Given the description of an element on the screen output the (x, y) to click on. 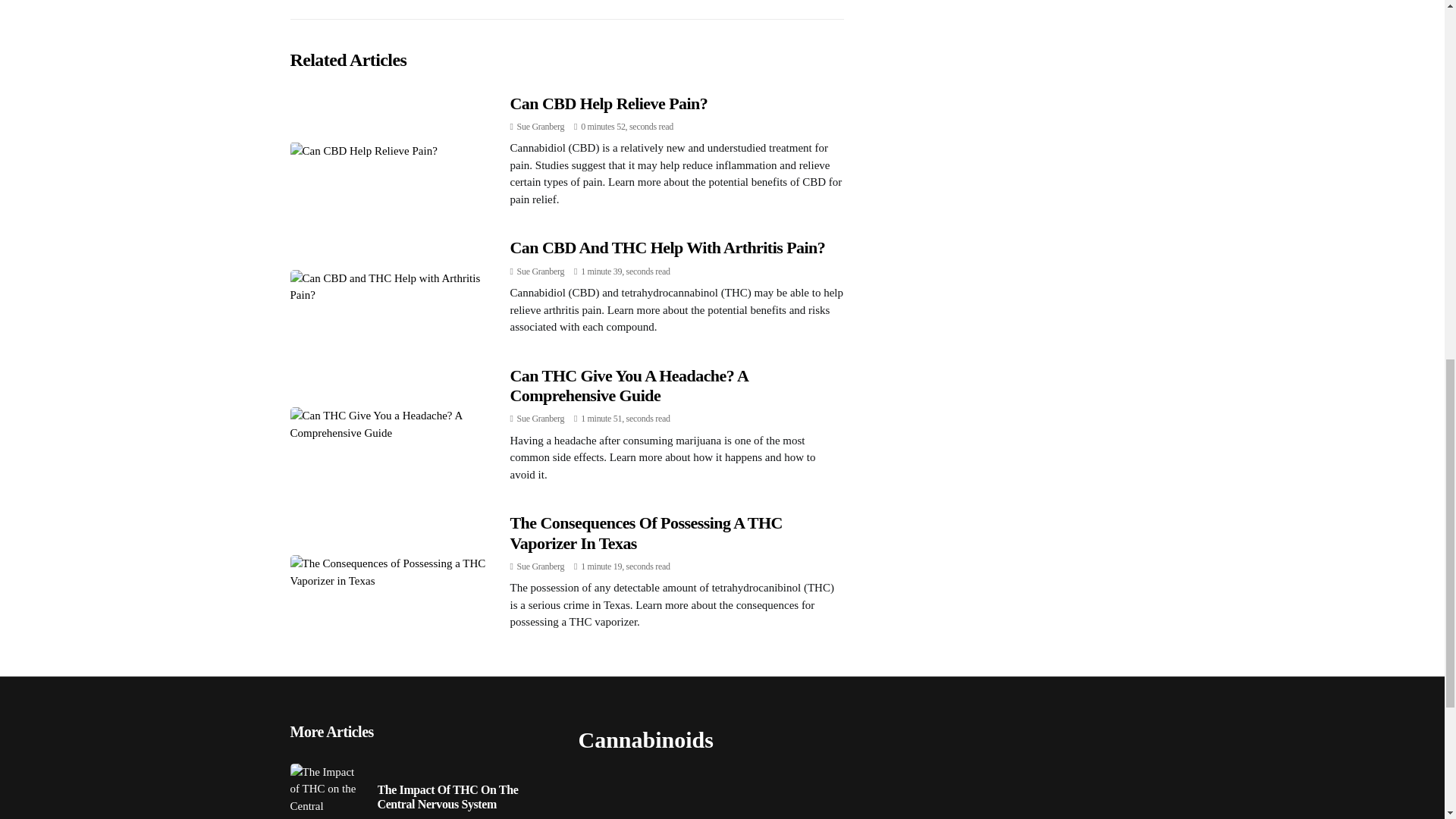
Posts by Sue Granberg (540, 566)
The Consequences Of Possessing A THC Vaporizer In Texas (645, 532)
Sue Granberg (540, 566)
Sue Granberg (540, 418)
Can CBD And THC Help With Arthritis Pain? (667, 247)
Sue Granberg (540, 126)
Can CBD Help Relieve Pain? (608, 103)
Sue Granberg (540, 271)
Posts by Sue Granberg (540, 126)
Posts by Sue Granberg (540, 418)
Can THC Give You A Headache? A Comprehensive Guide (628, 385)
Posts by Sue Granberg (540, 271)
